Given the description of an element on the screen output the (x, y) to click on. 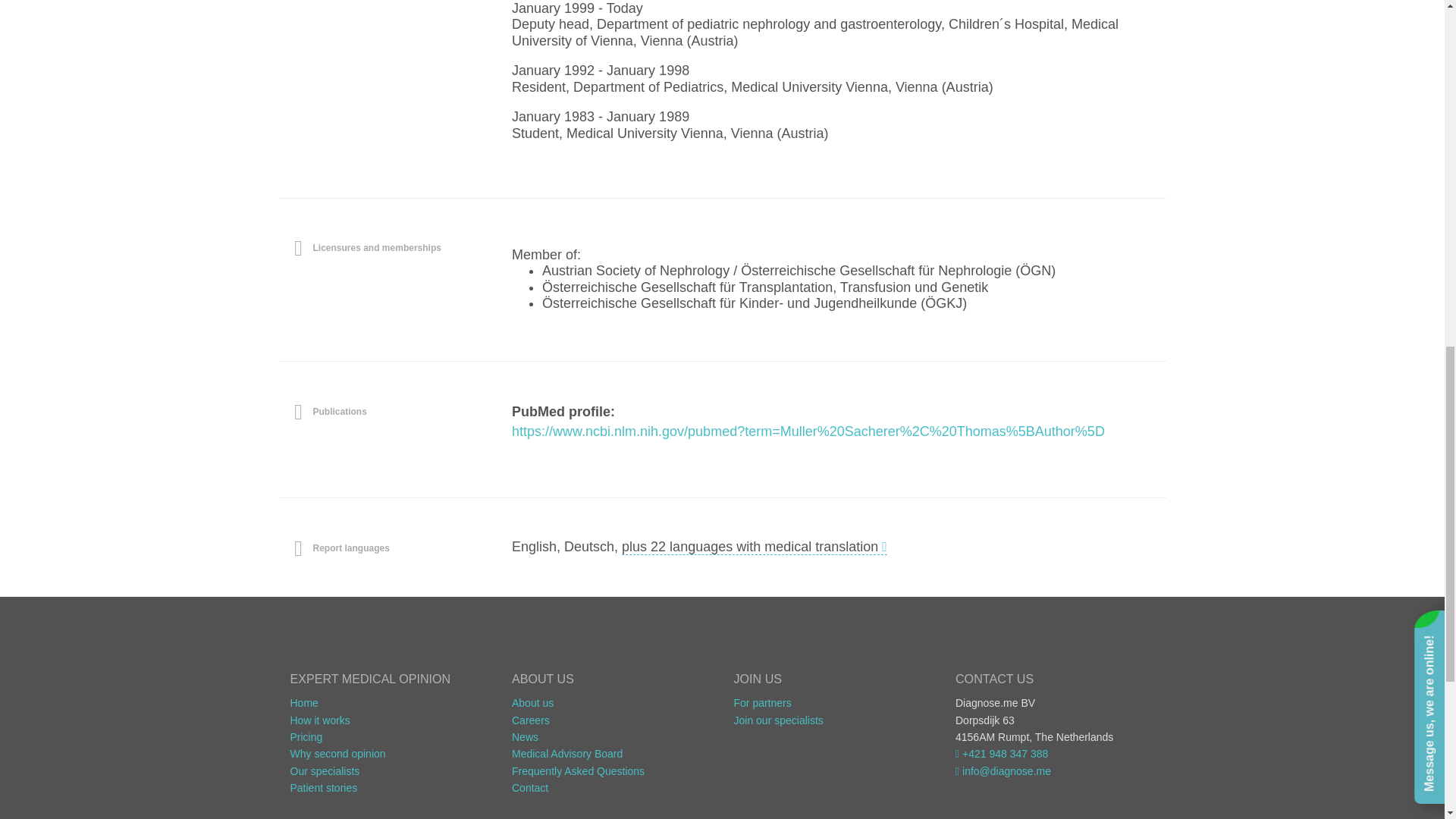
Home (303, 702)
About us (532, 702)
Frequently Asked Questions (578, 770)
Why second opinion (337, 753)
For partners (762, 702)
Careers (531, 720)
Patient stories (322, 787)
Join our specialists (778, 720)
News (525, 736)
Our specialists (324, 770)
